Given the description of an element on the screen output the (x, y) to click on. 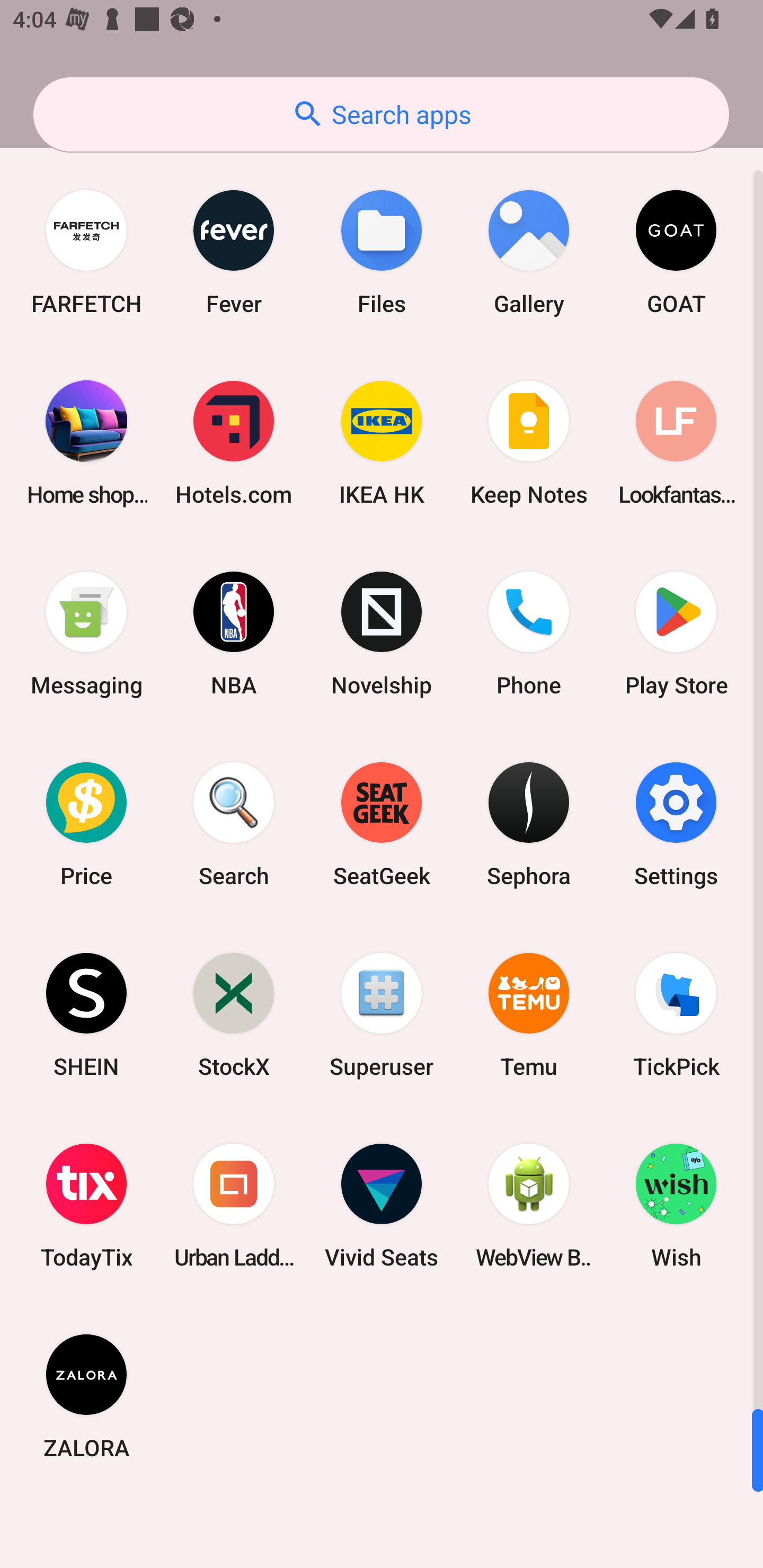
  Search apps (381, 114)
FARFETCH (86, 252)
Fever (233, 252)
Files (381, 252)
Gallery (528, 252)
GOAT (676, 252)
Home shopping (86, 442)
Hotels.com (233, 442)
IKEA HK (381, 442)
Keep Notes (528, 442)
Lookfantastic (676, 442)
Messaging (86, 633)
NBA (233, 633)
Novelship (381, 633)
Phone (528, 633)
Play Store (676, 633)
Price (86, 823)
Search (233, 823)
SeatGeek (381, 823)
Sephora (528, 823)
Settings (676, 823)
SHEIN (86, 1014)
StockX (233, 1014)
Superuser (381, 1014)
Temu (528, 1014)
TickPick (676, 1014)
TodayTix (86, 1205)
Urban Ladder (233, 1205)
Vivid Seats (381, 1205)
WebView Browser Tester (528, 1205)
Wish (676, 1205)
ZALORA (86, 1396)
